Given the description of an element on the screen output the (x, y) to click on. 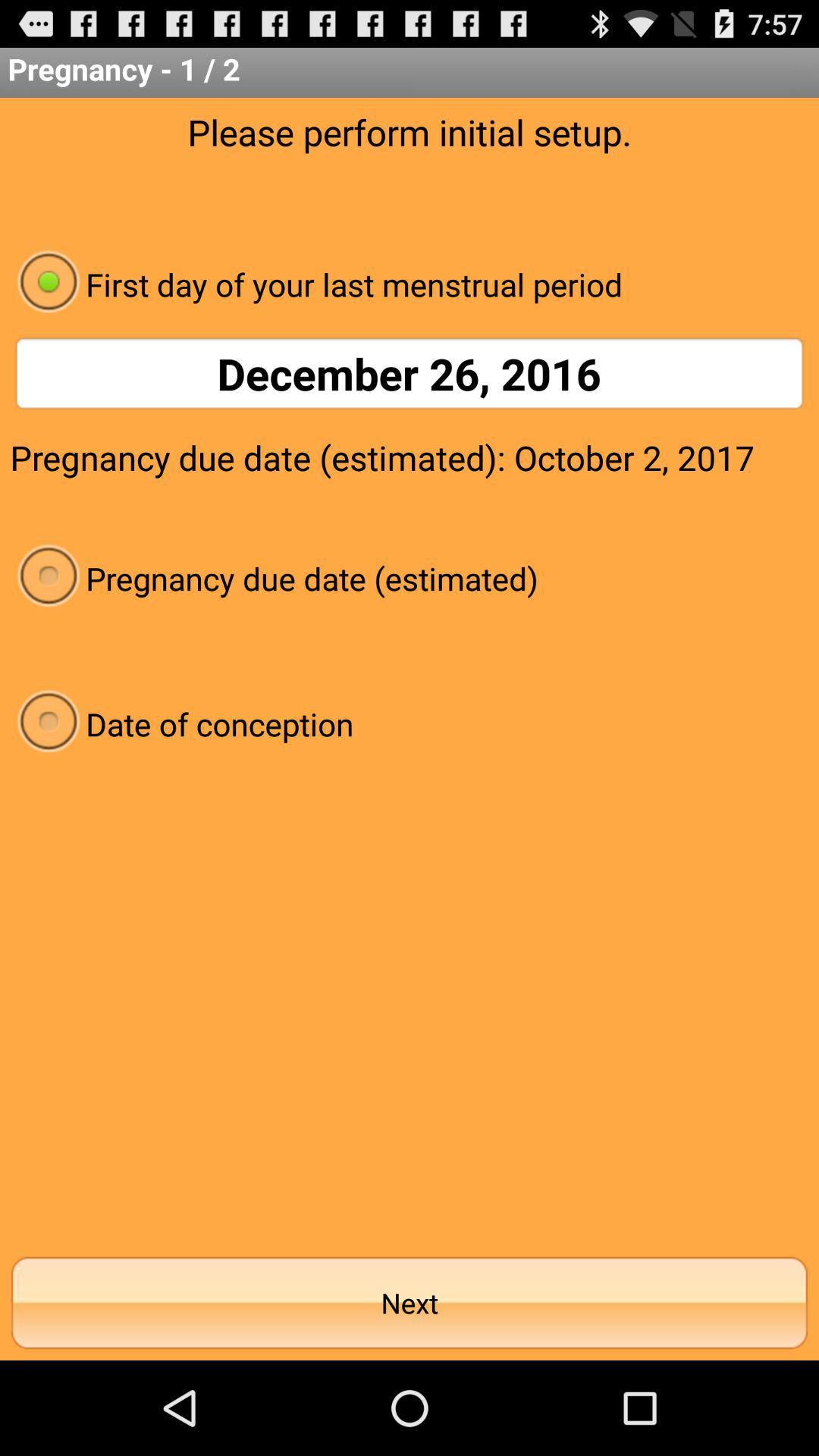
press the date of conception item (409, 723)
